Given the description of an element on the screen output the (x, y) to click on. 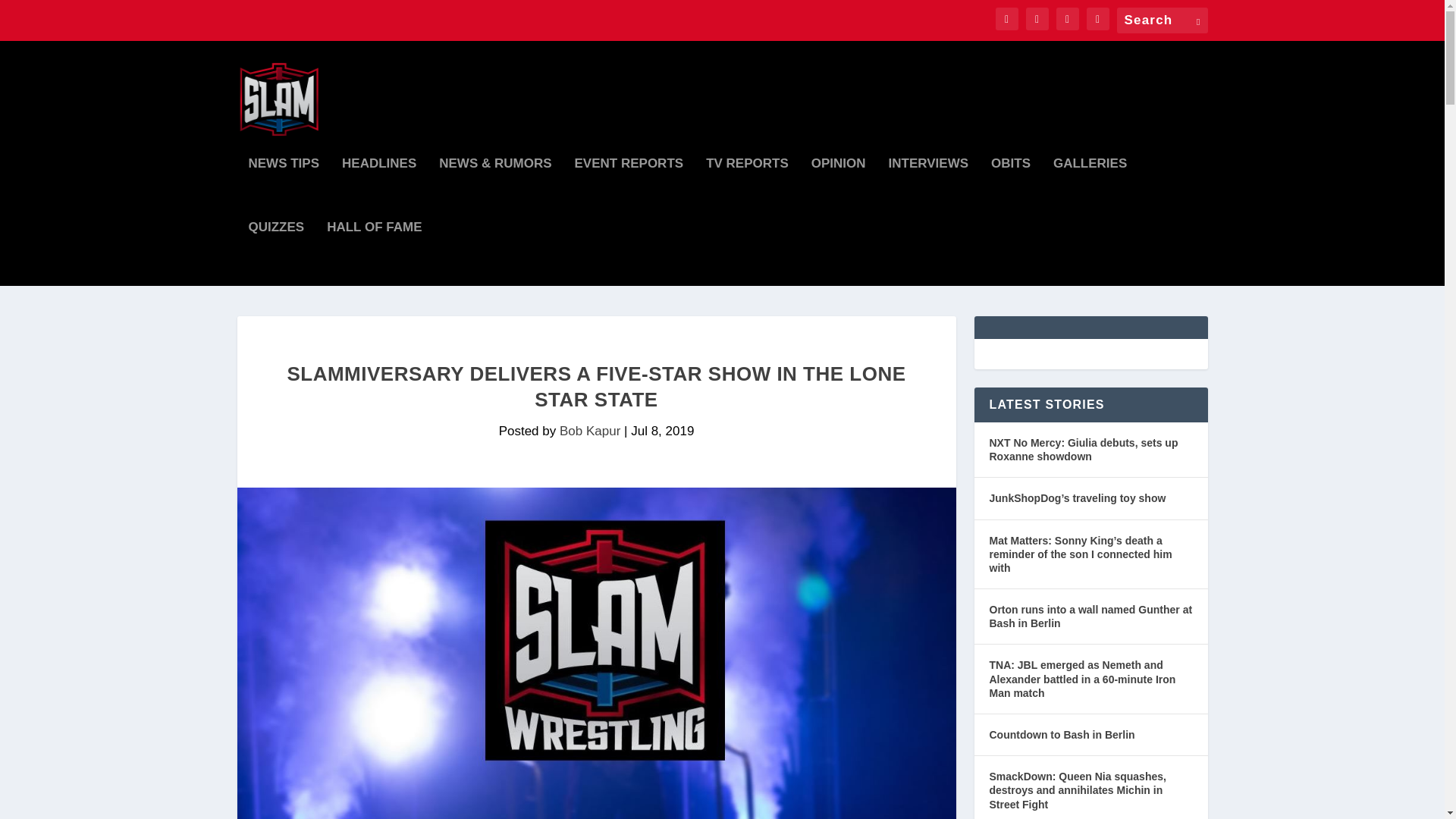
INTERVIEWS (928, 189)
TV REPORTS (747, 189)
EVENT REPORTS (629, 189)
HALL OF FAME (374, 253)
HEADLINES (379, 189)
Search for: (1161, 20)
NEWS TIPS (284, 189)
Bob Kapur (589, 431)
Posts by Bob Kapur (589, 431)
GALLERIES (1089, 189)
